Given the description of an element on the screen output the (x, y) to click on. 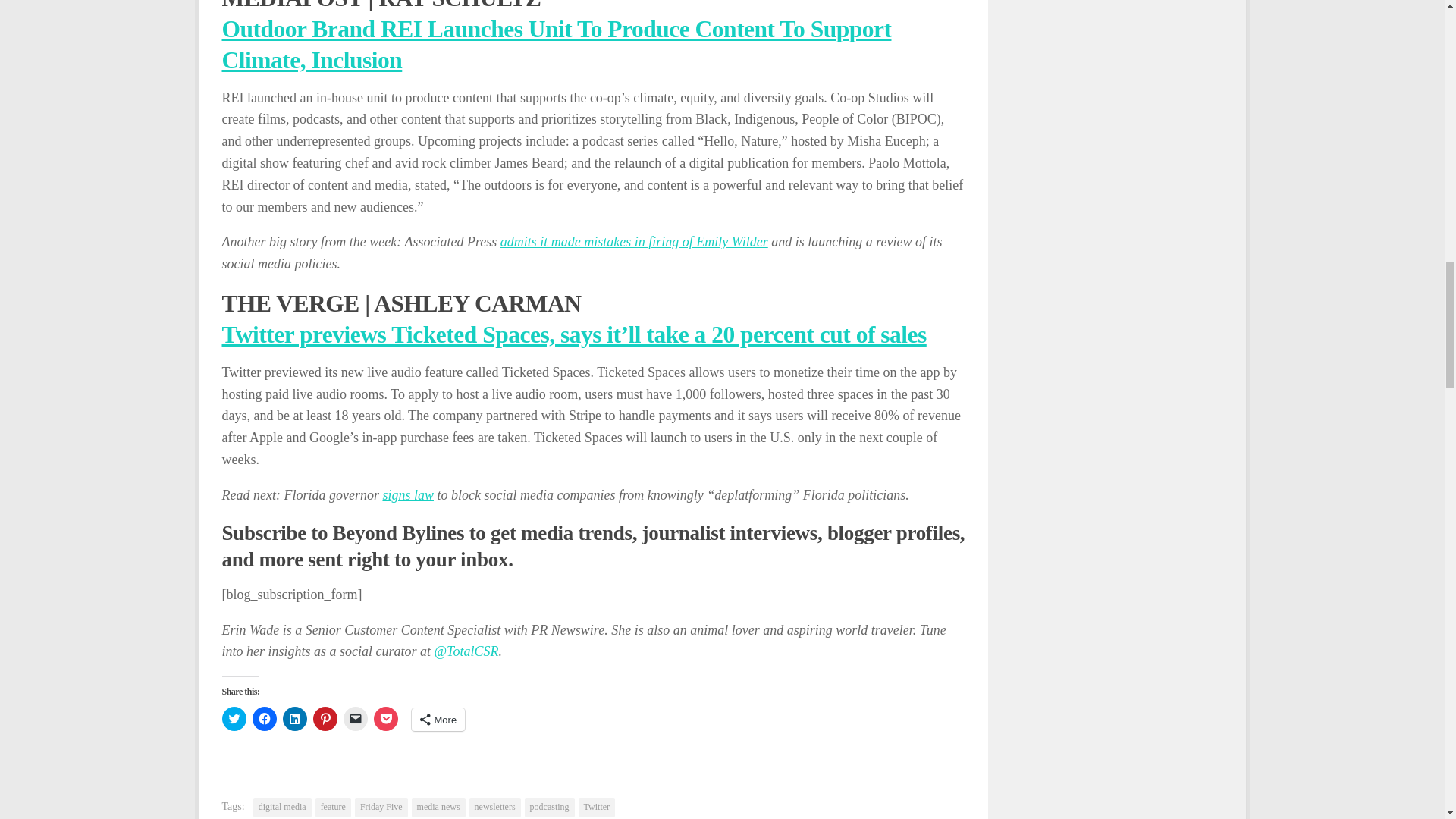
Click to share on Facebook (263, 718)
Click to share on LinkedIn (293, 718)
Click to share on Pocket (384, 718)
Click to share on Twitter (233, 718)
Click to share on Pinterest (324, 718)
Click to email a link to a friend (354, 718)
